Given the description of an element on the screen output the (x, y) to click on. 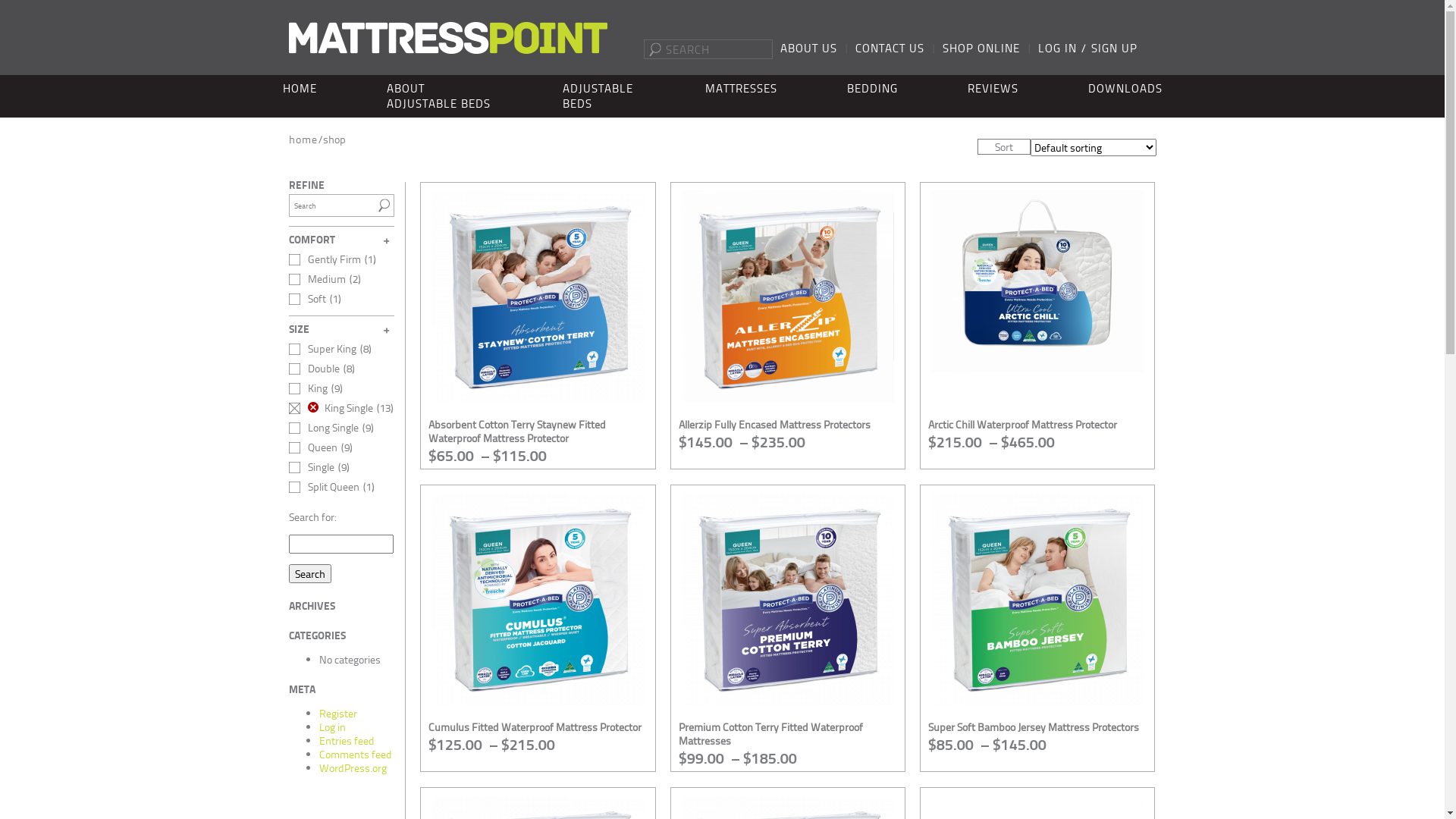
King Element type: text (307, 388)
SHOP ONLINE Element type: text (980, 48)
Super Soft Bamboo Jersey Mattress Protectors Element type: text (1033, 726)
Search Element type: text (309, 573)
WordPress.org Element type: text (351, 767)
Split Queen Element type: text (323, 486)
Entries feed Element type: text (345, 740)
Queen Element type: text (312, 447)
LOG IN / SIGN UP Element type: text (1086, 48)
MATTRESSES Element type: text (741, 88)
Allerzip Fully Encased Mattress Protectors Element type: text (774, 424)
Super King Element type: text (321, 348)
Register Element type: text (337, 713)
search Element type: text (655, 49)
ABOUT US Element type: text (807, 48)
Mattress Point Element type: text (447, 37)
King Single Element type: text (330, 407)
Comments feed Element type: text (354, 753)
Double Element type: text (313, 368)
Medium Element type: text (316, 278)
ADJUSTABLE BEDS Element type: text (598, 96)
Search Element type: text (384, 205)
Long Single Element type: text (322, 427)
Arctic Chill Waterproof Mattress Protector Element type: text (1022, 424)
Cumulus Fitted Waterproof Mattress Protector Element type: text (534, 726)
DOWNLOADS Element type: text (1124, 88)
REVIEWS Element type: text (992, 88)
ABOUT ADJUSTABLE BEDS Element type: text (439, 96)
Log in Element type: text (331, 726)
Soft Element type: text (306, 298)
home Element type: text (302, 138)
Sort Element type: text (1002, 146)
Gently Firm Element type: text (324, 259)
BEDDING Element type: text (871, 88)
Single Element type: text (310, 466)
HOME Element type: text (299, 88)
Premium Cotton Terry Fitted Waterproof Mattresses Element type: text (770, 733)
CONTACT US Element type: text (889, 48)
